Given the description of an element on the screen output the (x, y) to click on. 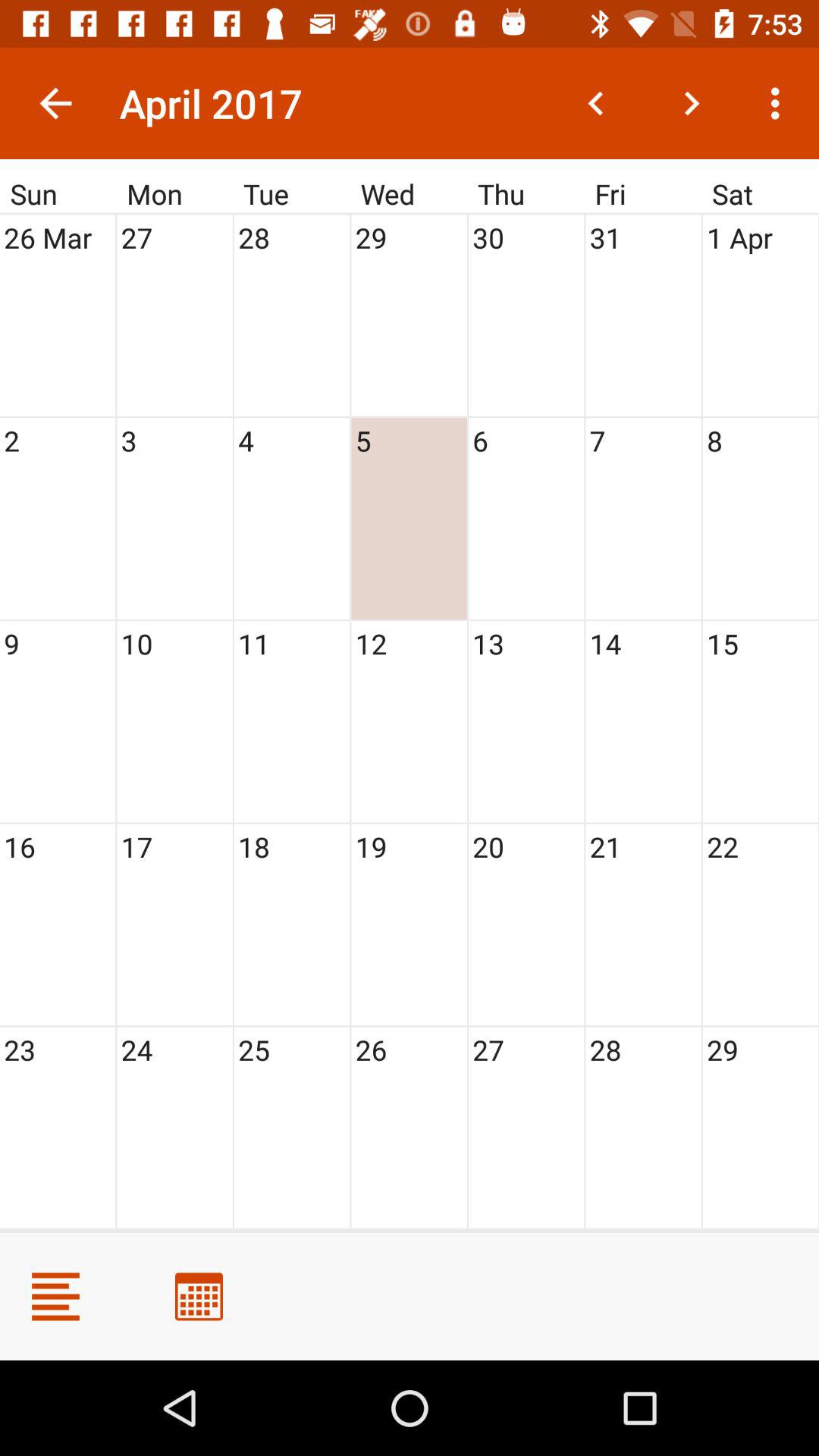
go to the next month (691, 103)
